Given the description of an element on the screen output the (x, y) to click on. 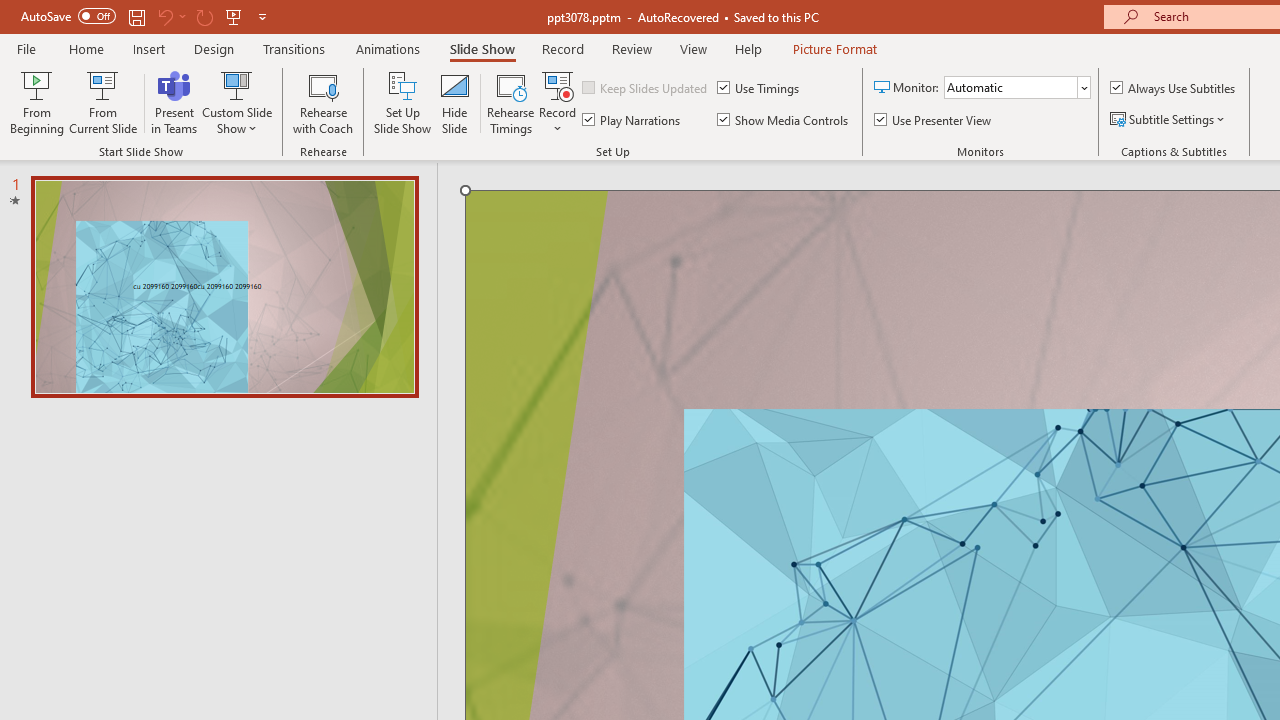
Picture Format (834, 48)
Use Presenter View (934, 119)
Set Up Slide Show... (402, 102)
Subtitle Settings (1169, 119)
From Current Slide (102, 102)
